Given the description of an element on the screen output the (x, y) to click on. 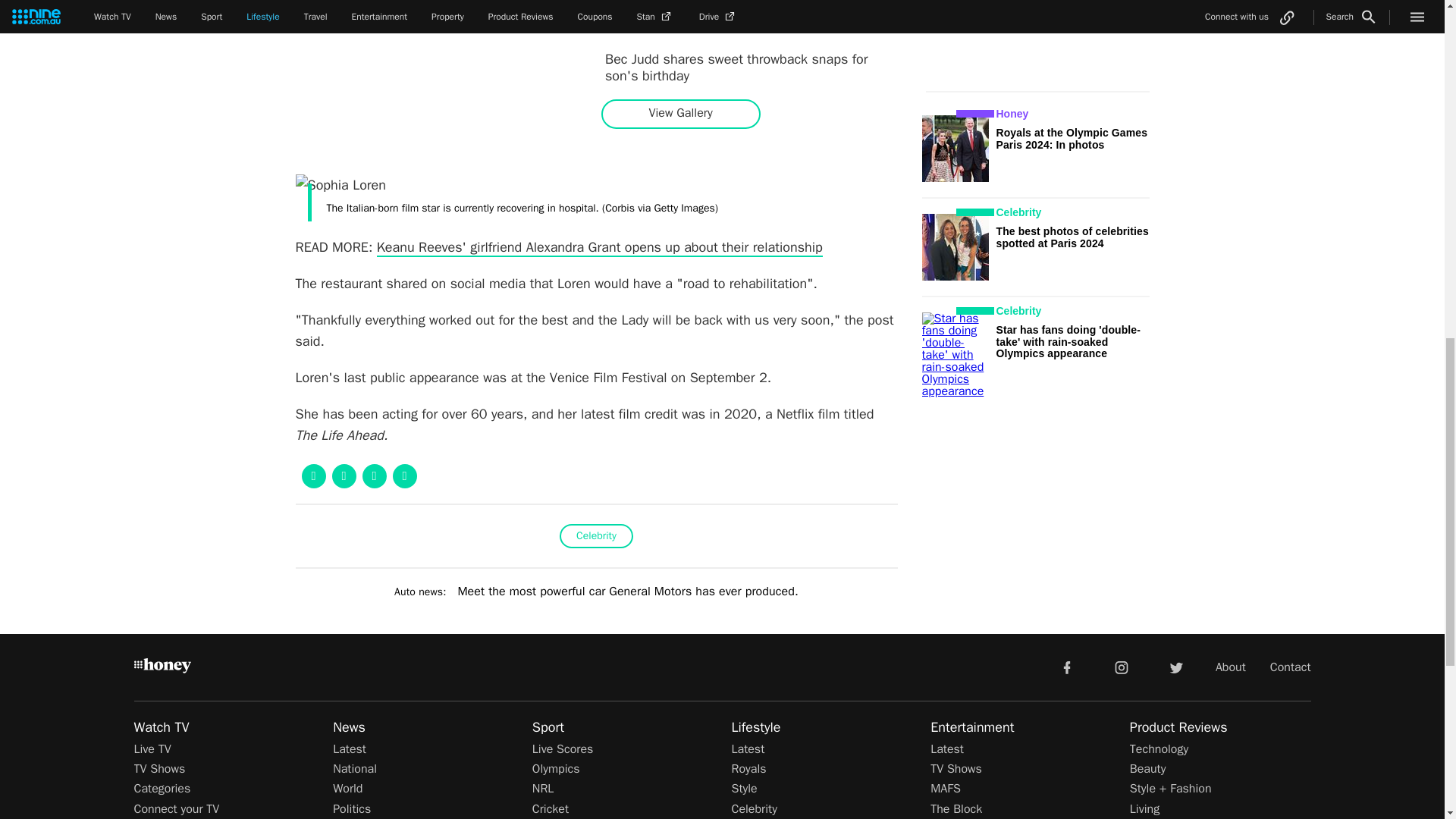
facebook (1066, 666)
View Gallery (680, 113)
twitter (1175, 666)
instagram (1121, 666)
